Given the description of an element on the screen output the (x, y) to click on. 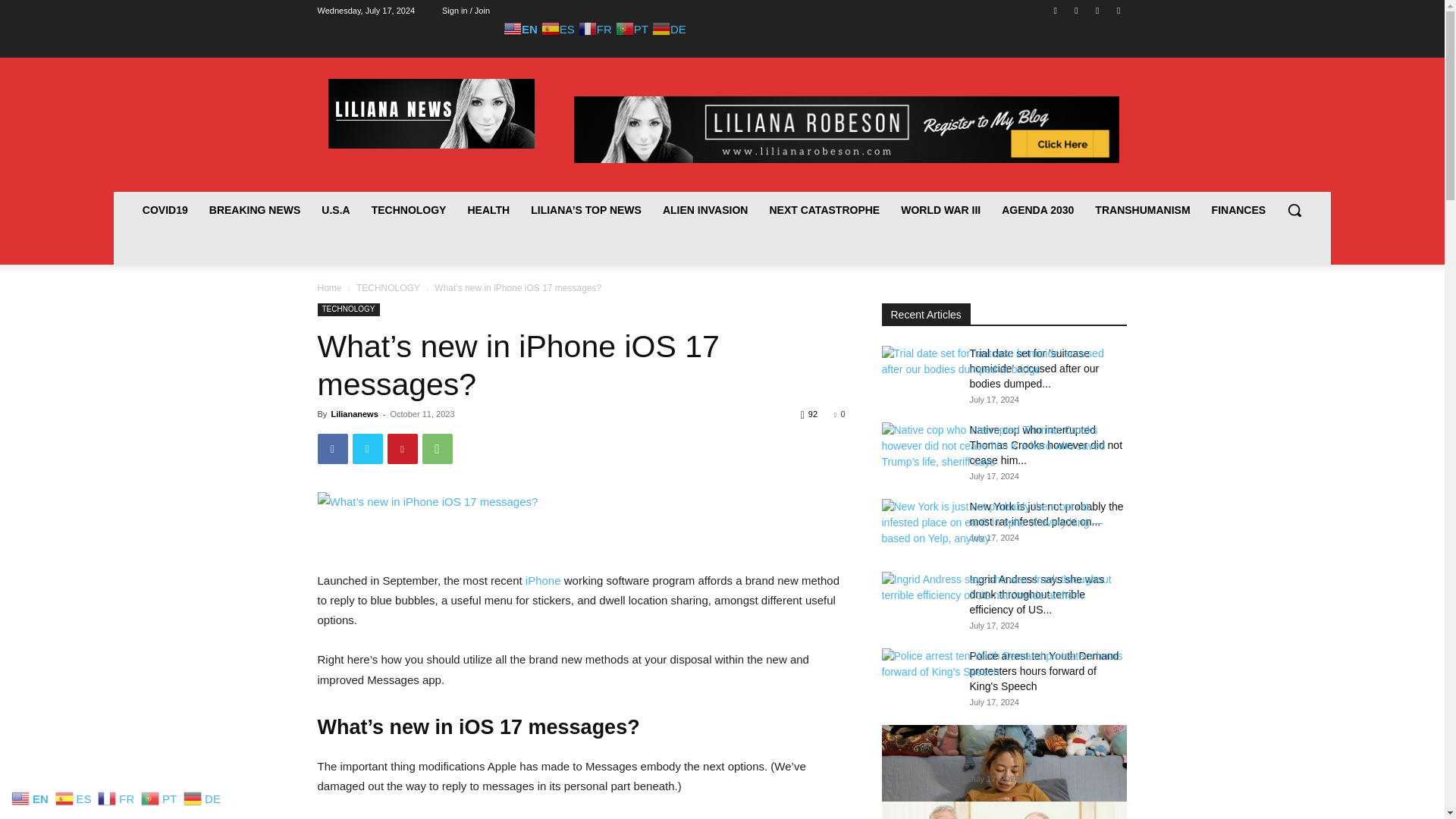
FINANCES (1238, 209)
ALIEN INVASION (705, 209)
Twitter (366, 449)
Facebook (1055, 9)
Youtube (1117, 9)
View all posts in TECHNOLOGY (388, 287)
BREAKING NEWS (254, 209)
Instagram (1075, 9)
U.S.A (335, 209)
TRANSHUMANISM (1141, 209)
Facebook (332, 449)
NEXT CATASTROPHE (823, 209)
Twitter (1097, 9)
COVID19 (165, 209)
